Given the description of an element on the screen output the (x, y) to click on. 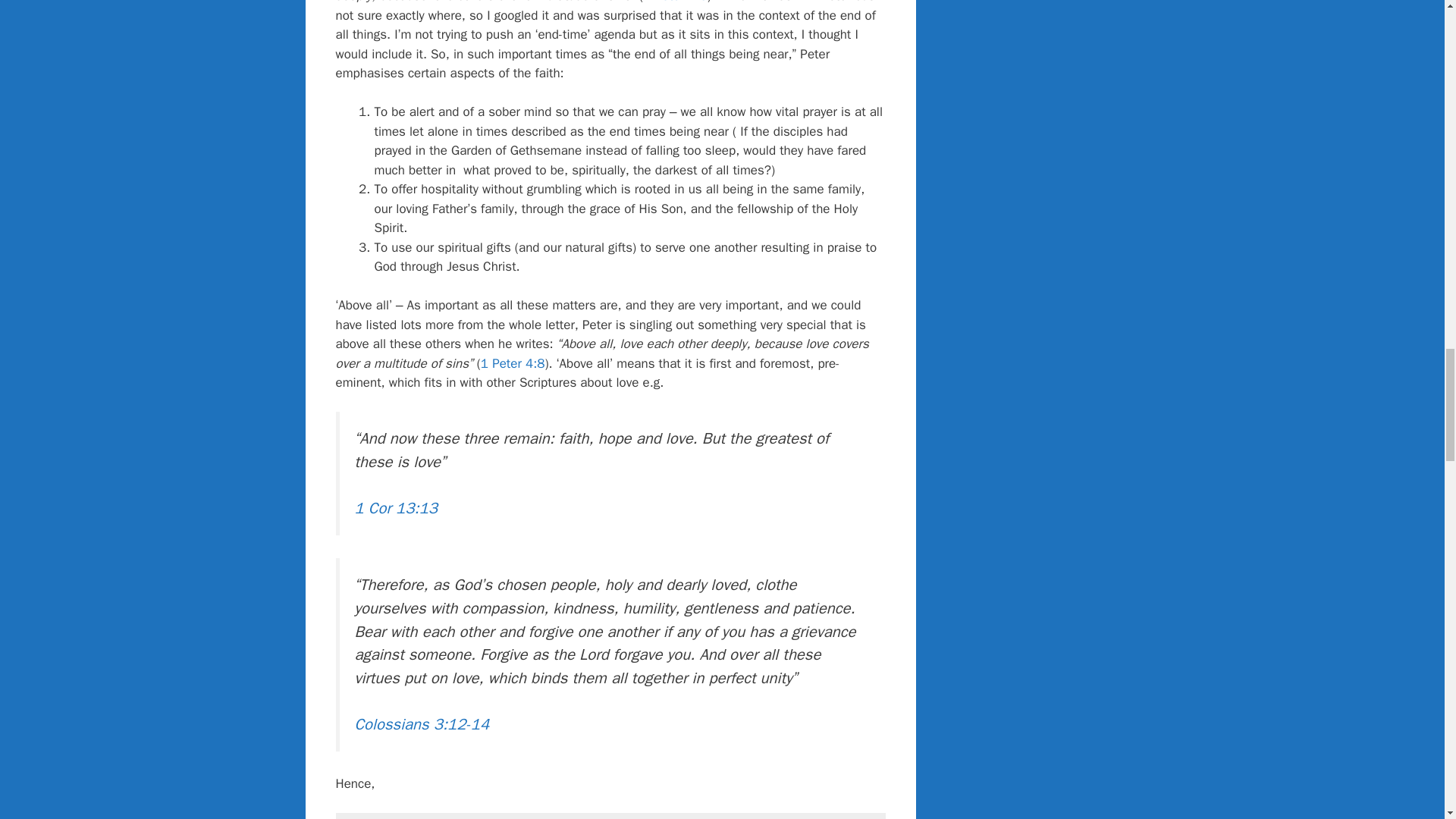
1 Cor 13:13 (396, 507)
1 Peter 4:8 (512, 363)
1 Peter 4:8 (675, 2)
Colossians 3:12-14 (422, 723)
